Given the description of an element on the screen output the (x, y) to click on. 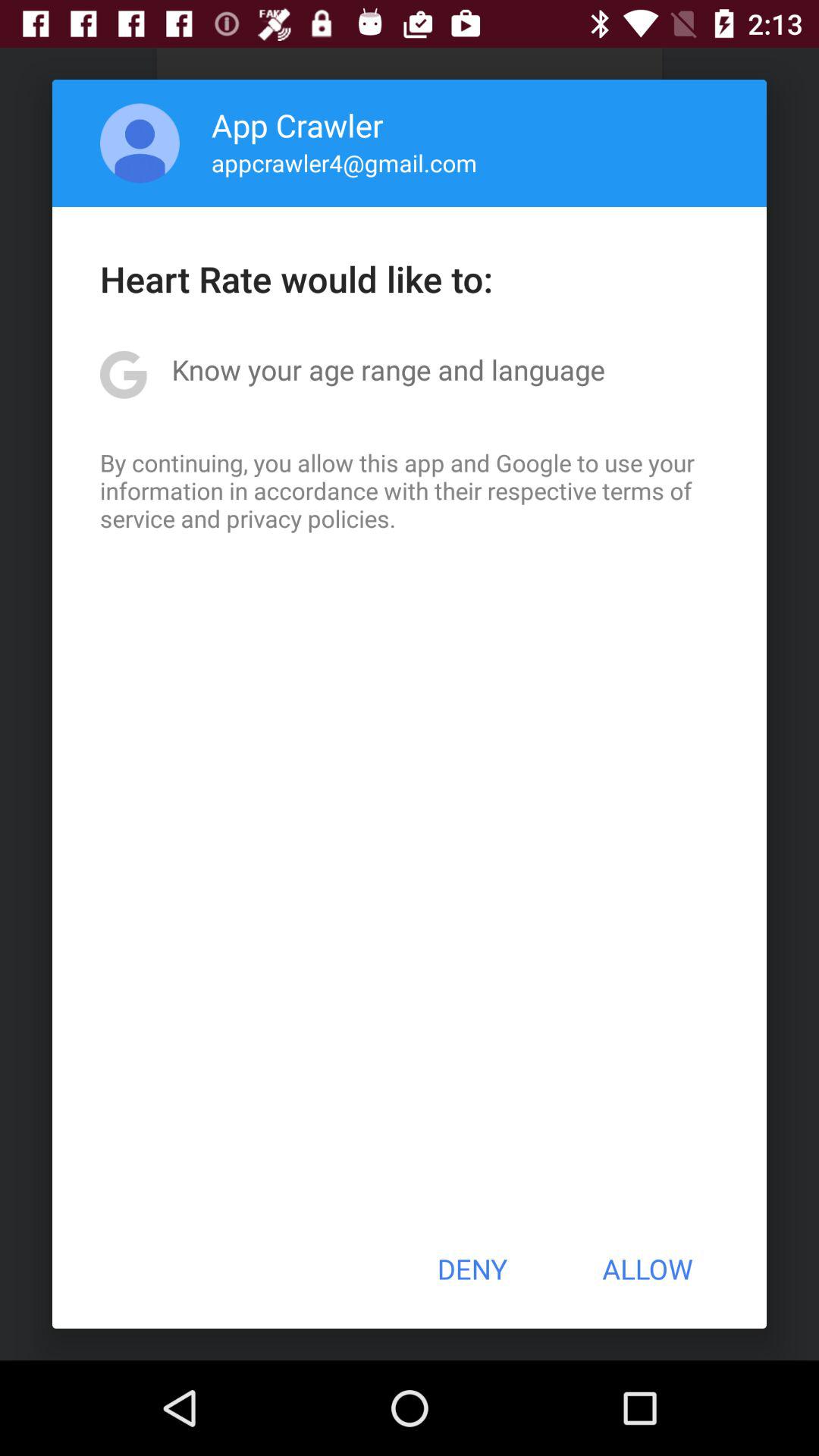
turn off item next to allow icon (471, 1268)
